Given the description of an element on the screen output the (x, y) to click on. 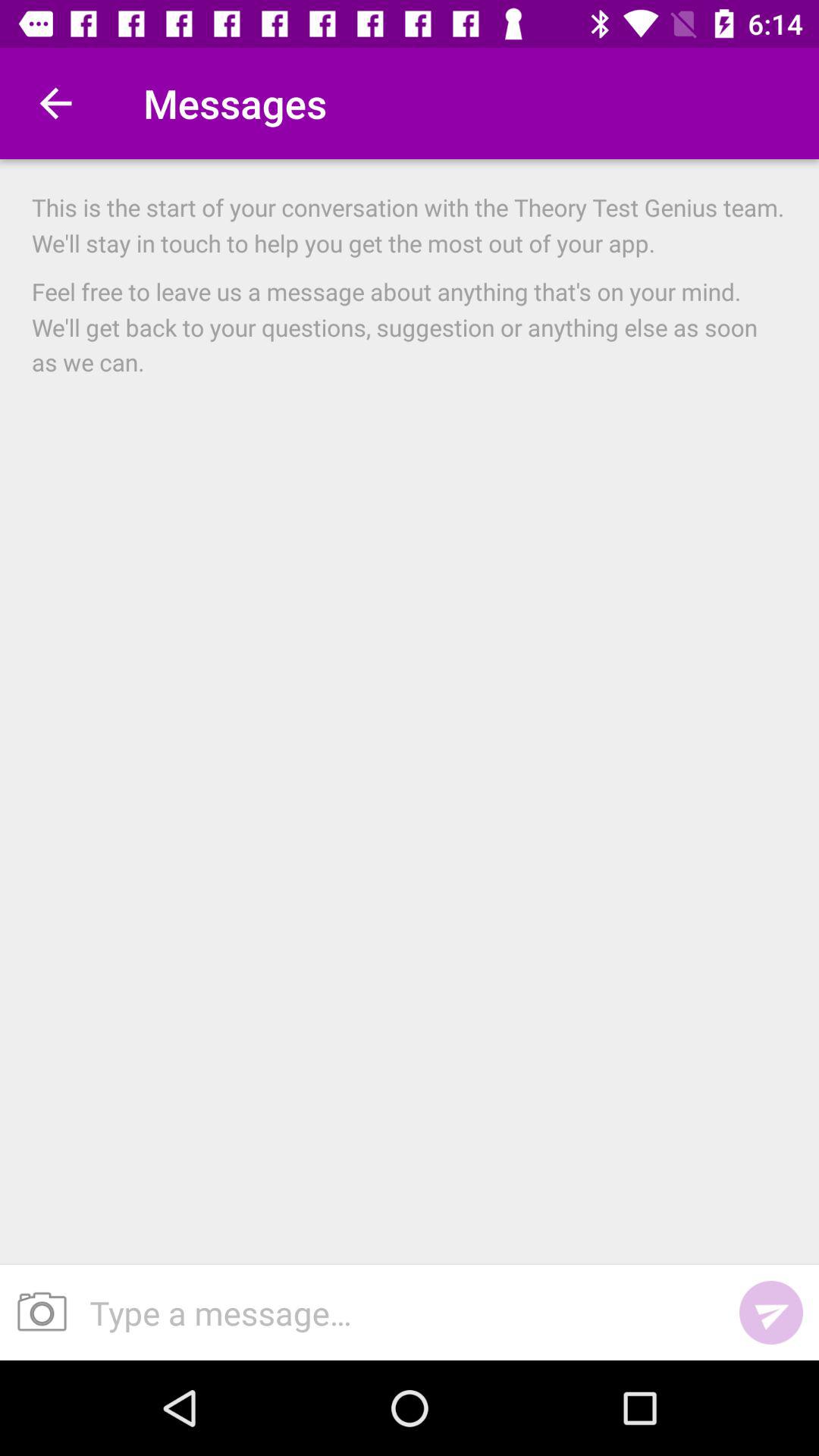
launch the item at the bottom right corner (771, 1312)
